Given the description of an element on the screen output the (x, y) to click on. 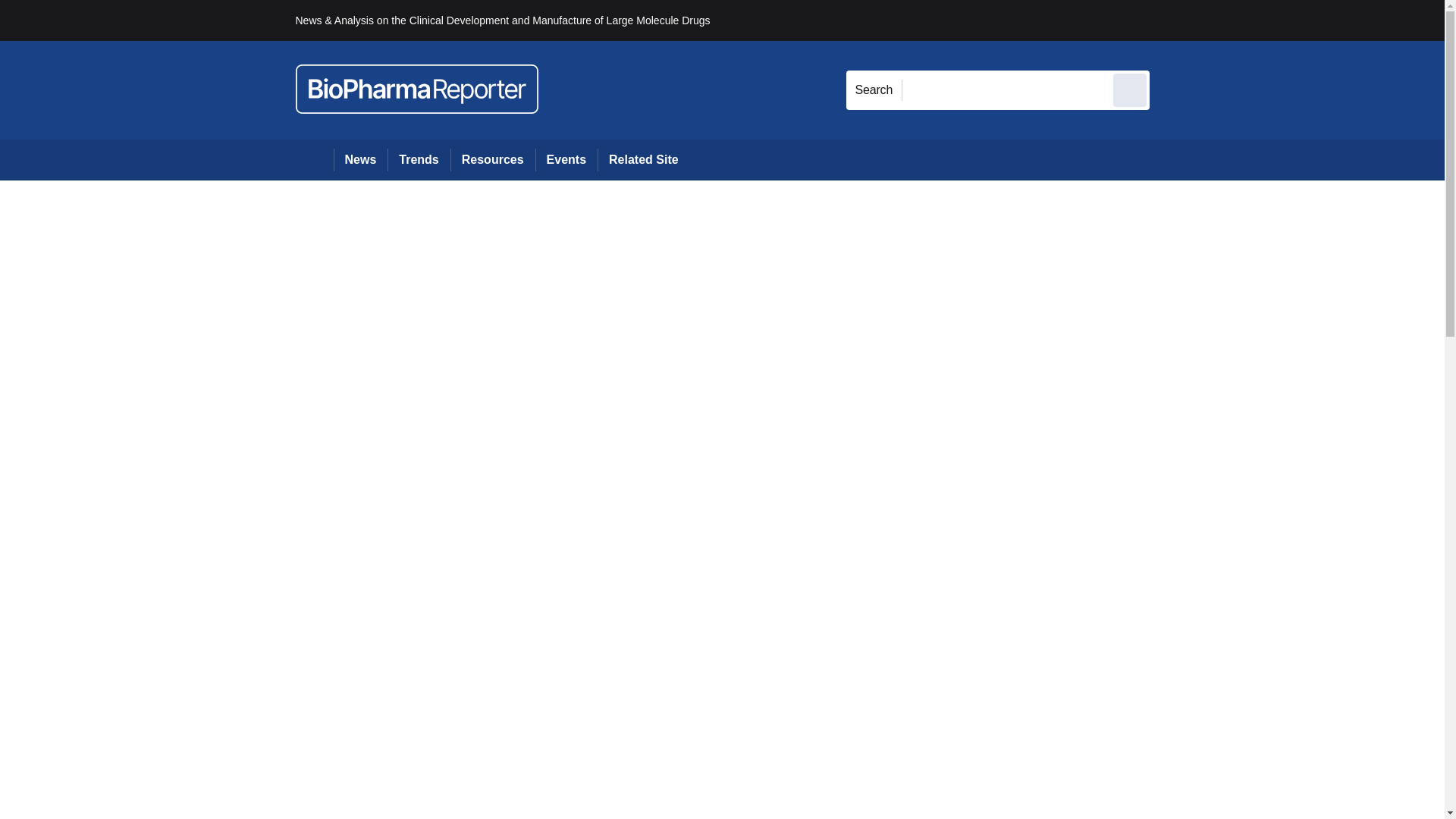
BioPharmaReporter (416, 89)
Home (313, 159)
My account (1256, 20)
Resources (492, 159)
News (360, 159)
Sign in (1171, 20)
Sign out (1174, 20)
Send (1129, 90)
REGISTER (1250, 20)
Trends (418, 159)
